Given the description of an element on the screen output the (x, y) to click on. 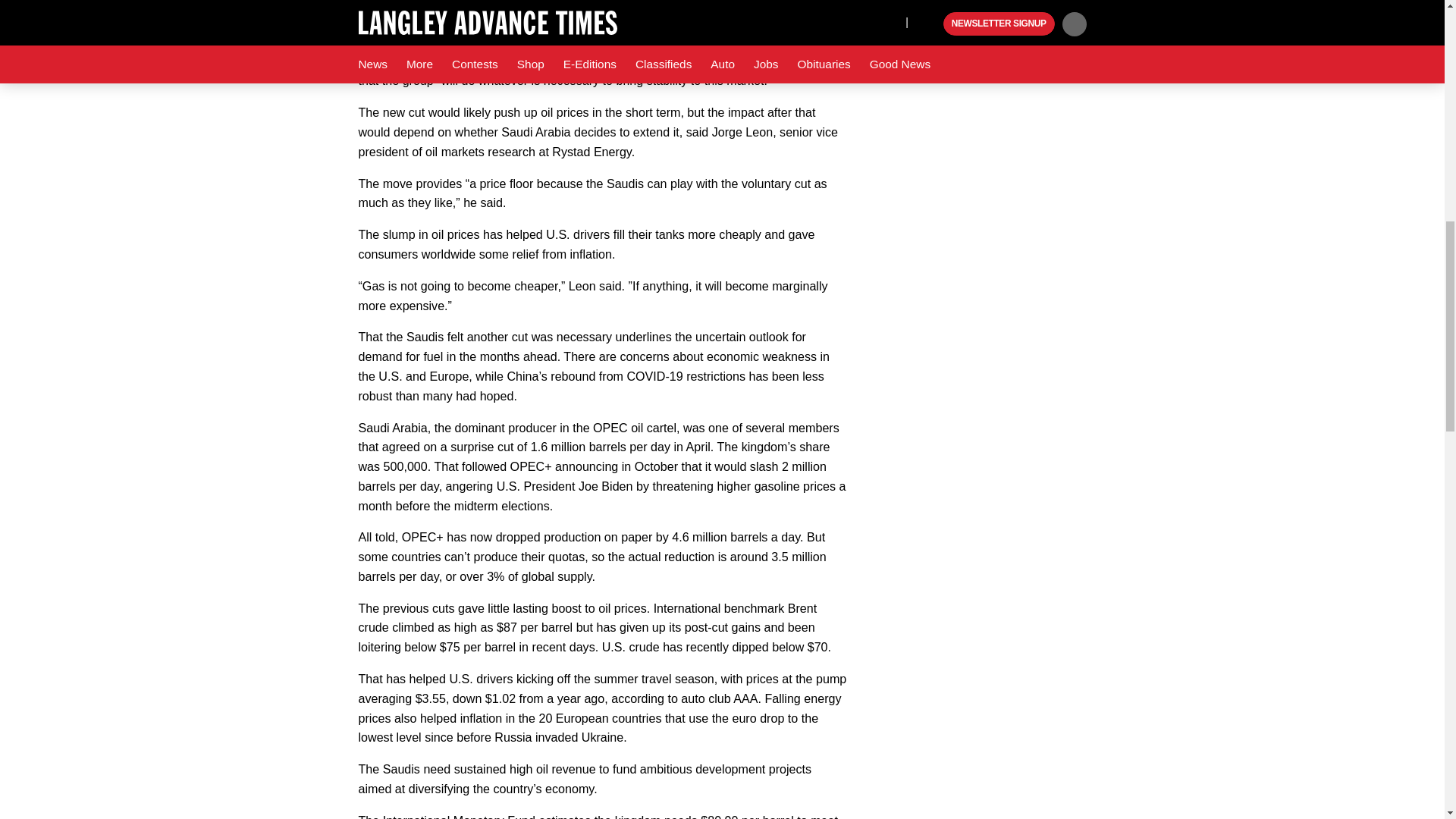
Has a gallery (1020, 4)
